Given the description of an element on the screen output the (x, y) to click on. 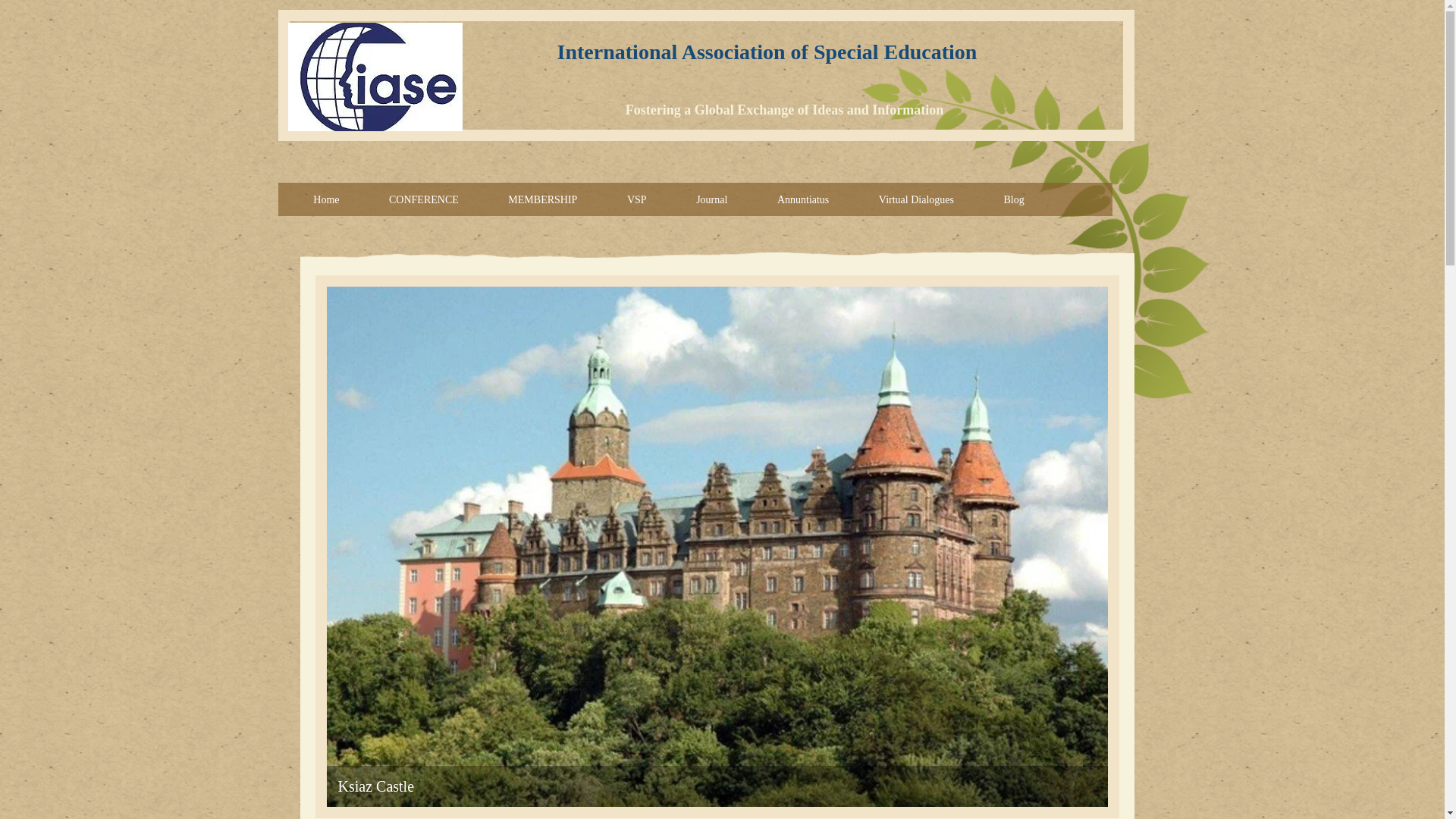
Blog (1013, 200)
MEMBERSHIP (542, 200)
Annuntiatus (802, 200)
Virtual Dialogues (915, 200)
VSP (636, 200)
CONFERENCE (423, 200)
Home (326, 200)
Journal (711, 200)
